Given the description of an element on the screen output the (x, y) to click on. 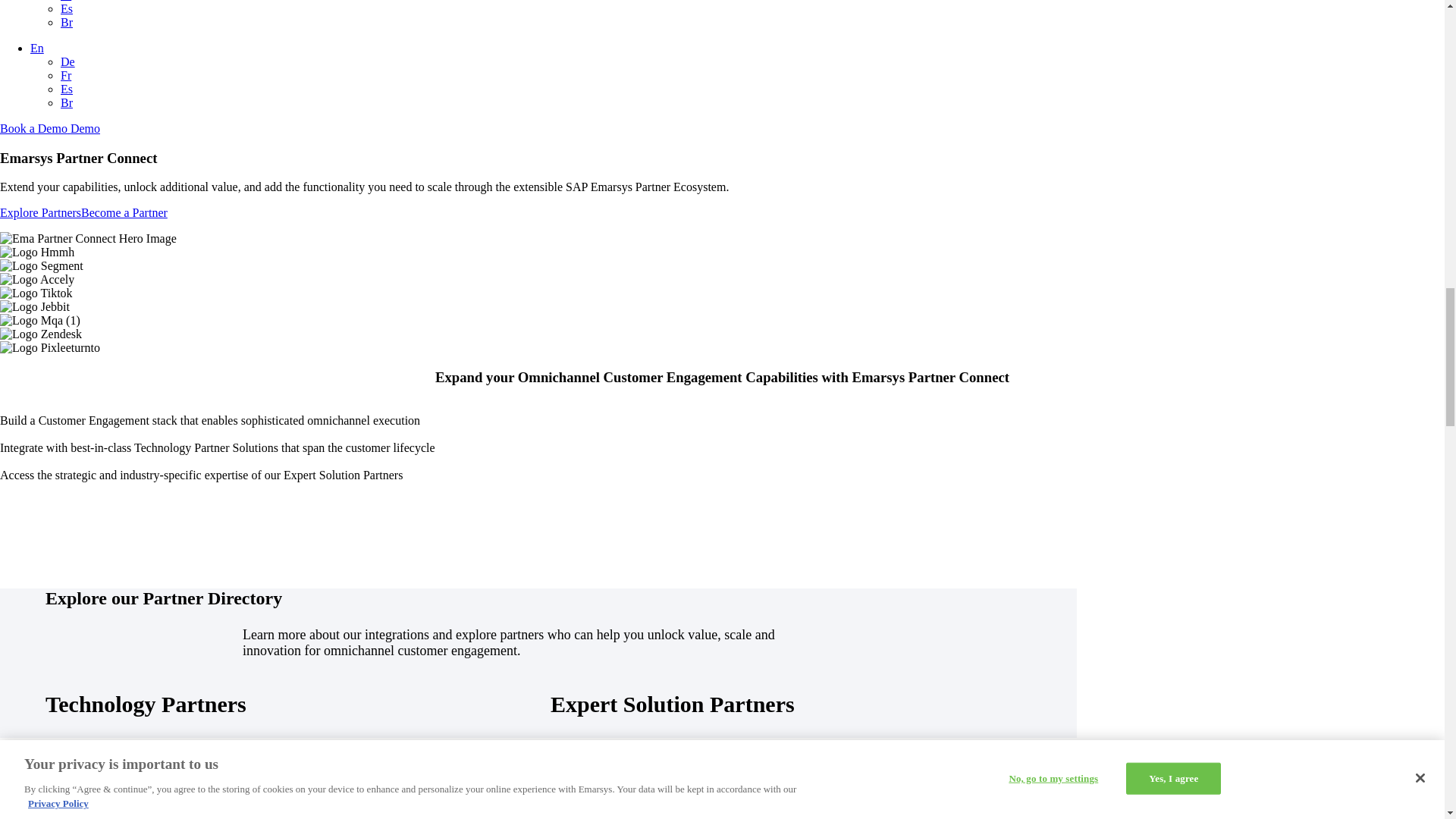
Br (66, 21)
En (36, 47)
De (68, 61)
Es (66, 8)
Es (66, 88)
Br (66, 102)
